Given the description of an element on the screen output the (x, y) to click on. 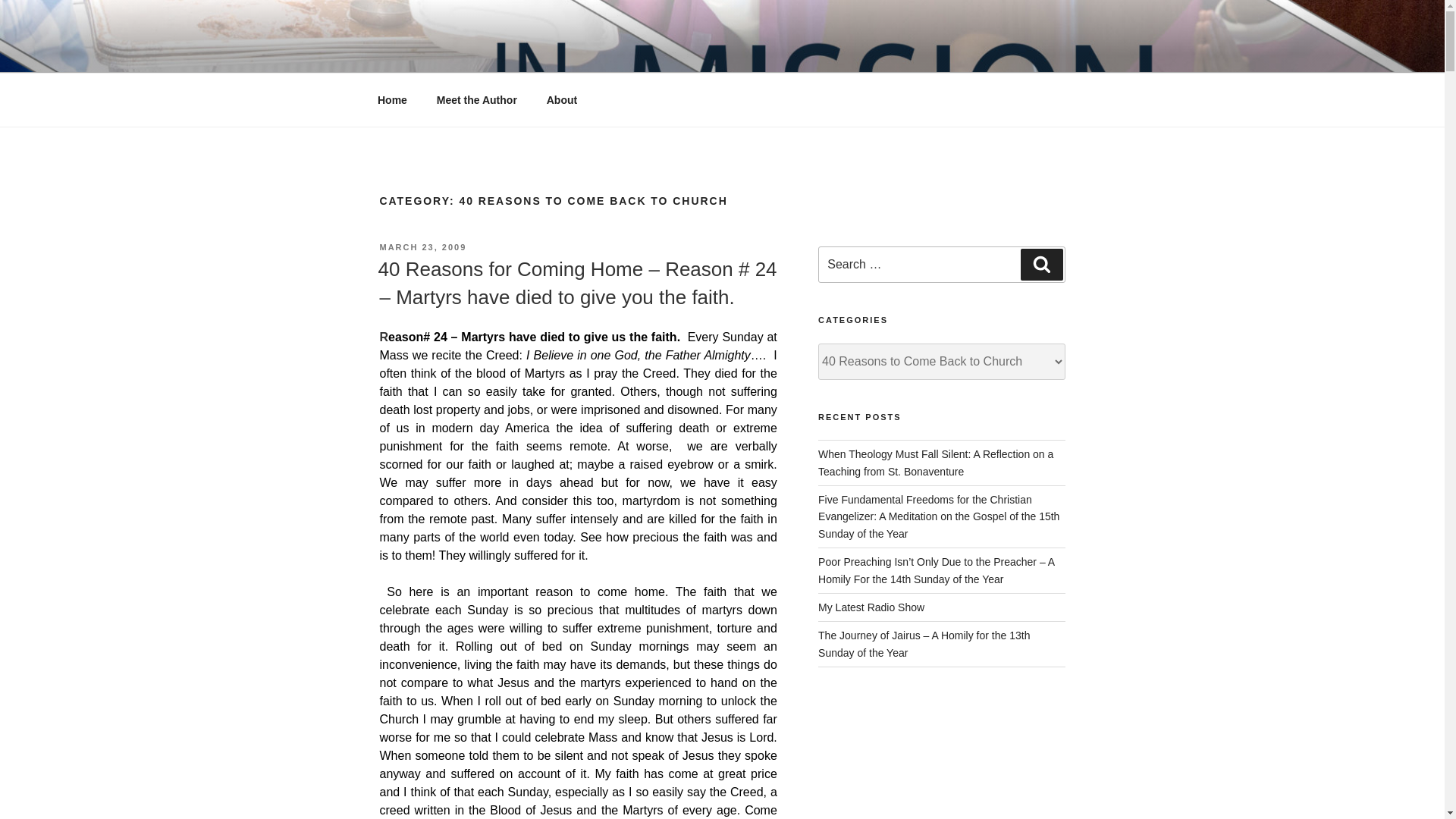
Meet the Author (476, 99)
My Latest Radio Show (871, 607)
About (560, 99)
COMMUNITY IN MISSION (563, 52)
Search (1041, 264)
Home (392, 99)
MARCH 23, 2009 (421, 246)
